Given the description of an element on the screen output the (x, y) to click on. 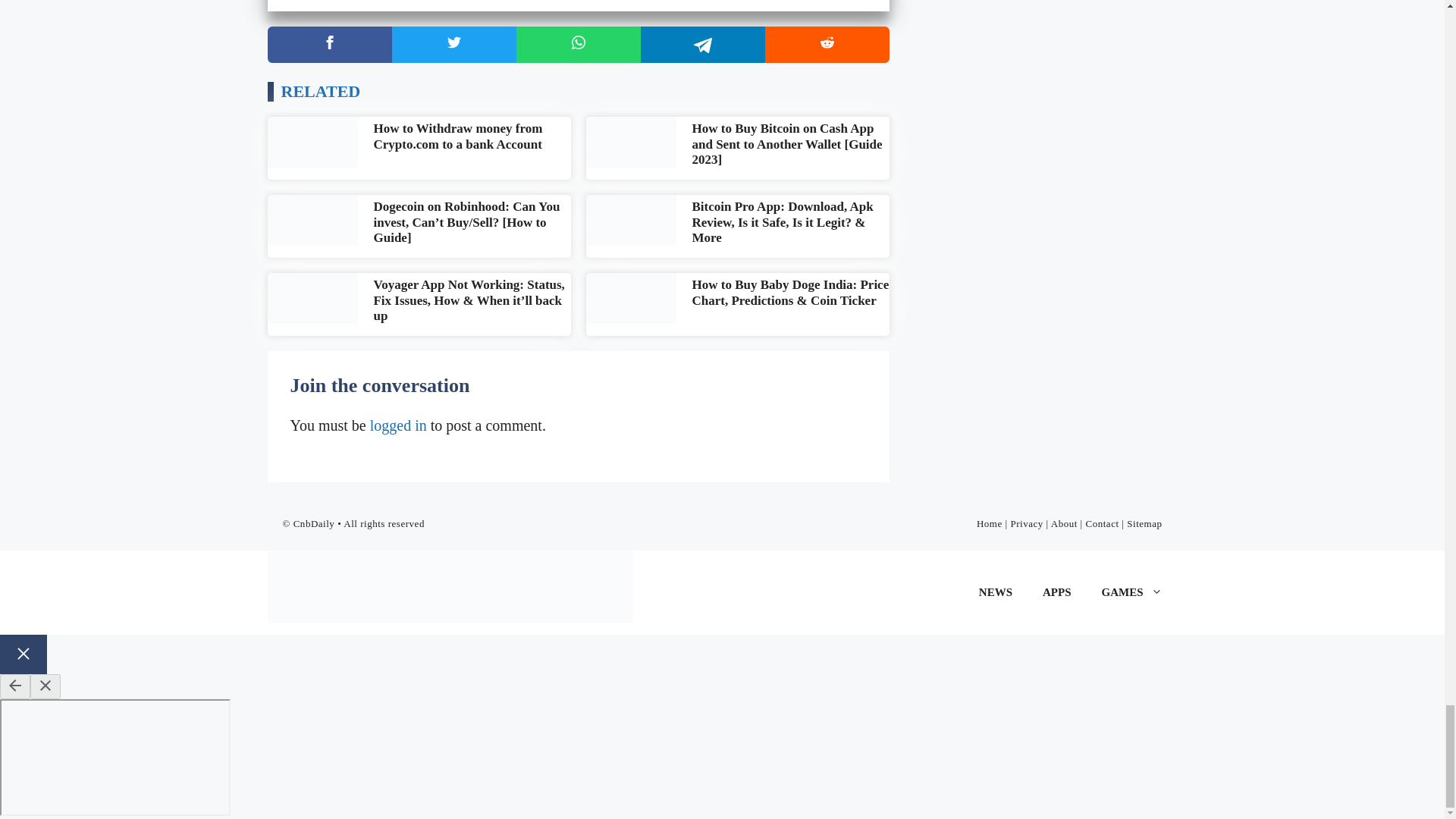
How to Withdraw money from Crypto.com to a bank Account (456, 135)
